Given the description of an element on the screen output the (x, y) to click on. 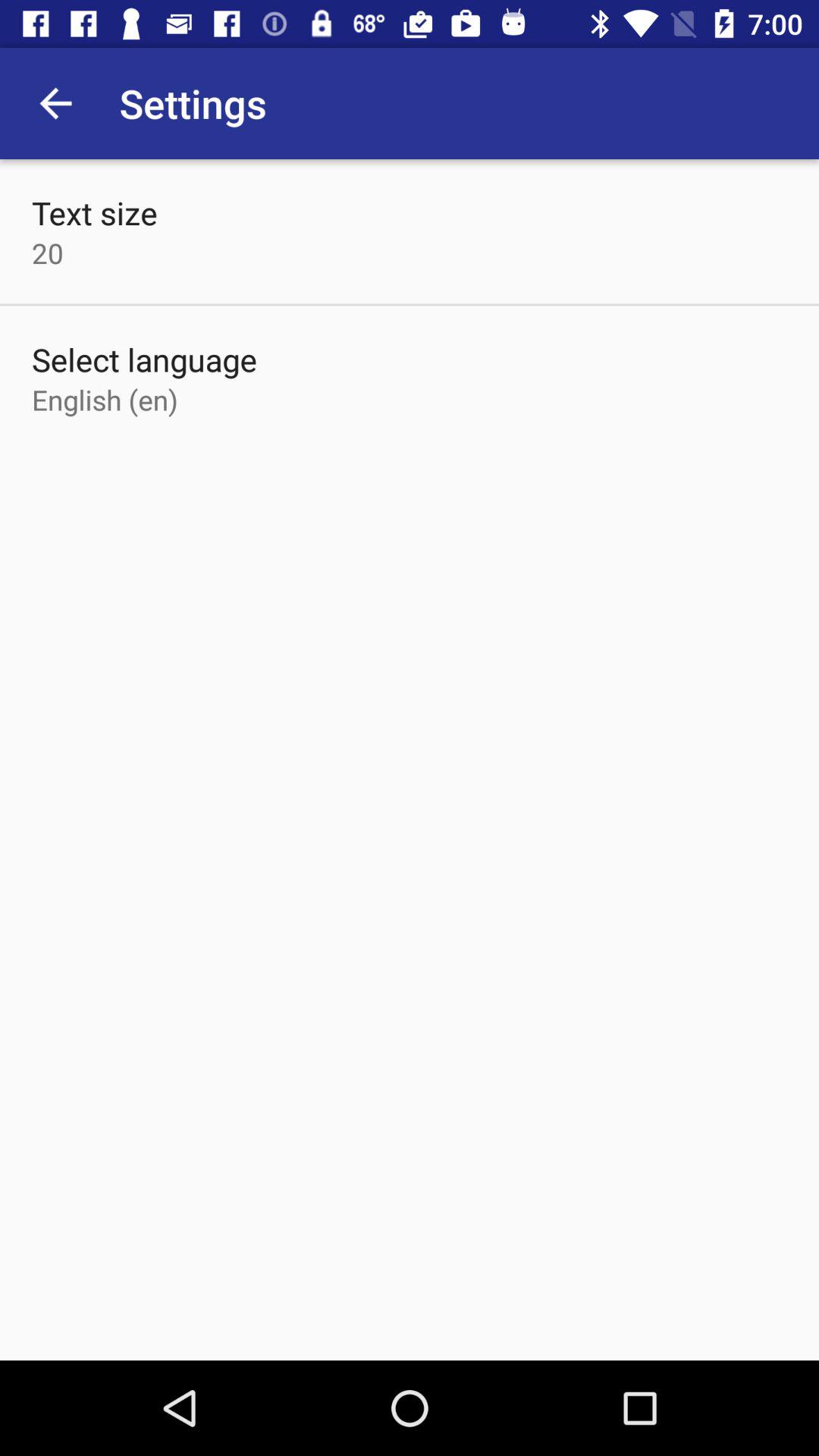
open the select language icon (144, 359)
